Given the description of an element on the screen output the (x, y) to click on. 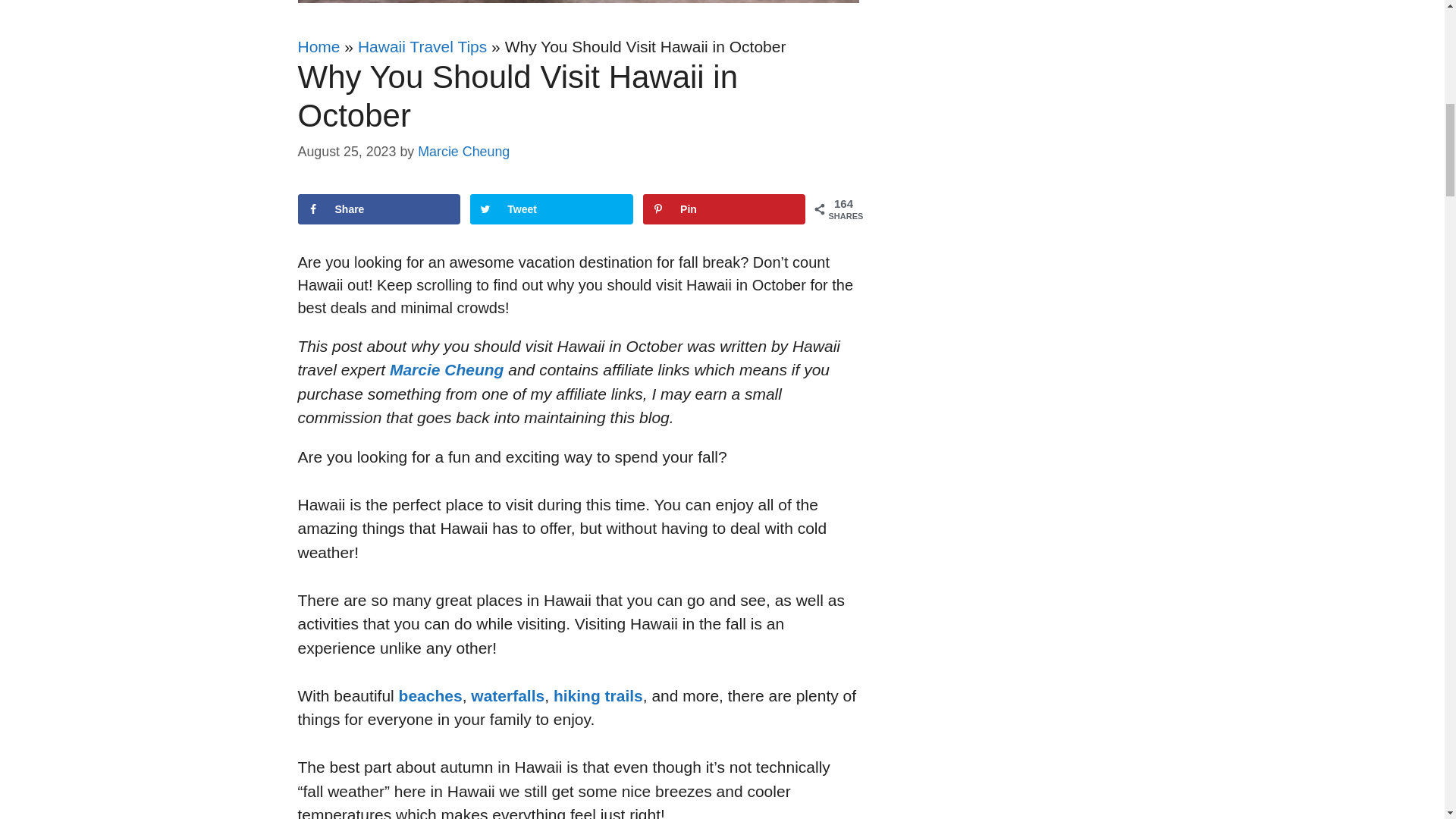
View all posts by Marcie Cheung (463, 151)
Save to Pinterest (724, 209)
Share on Twitter (550, 209)
Share on Facebook (378, 209)
